Given the description of an element on the screen output the (x, y) to click on. 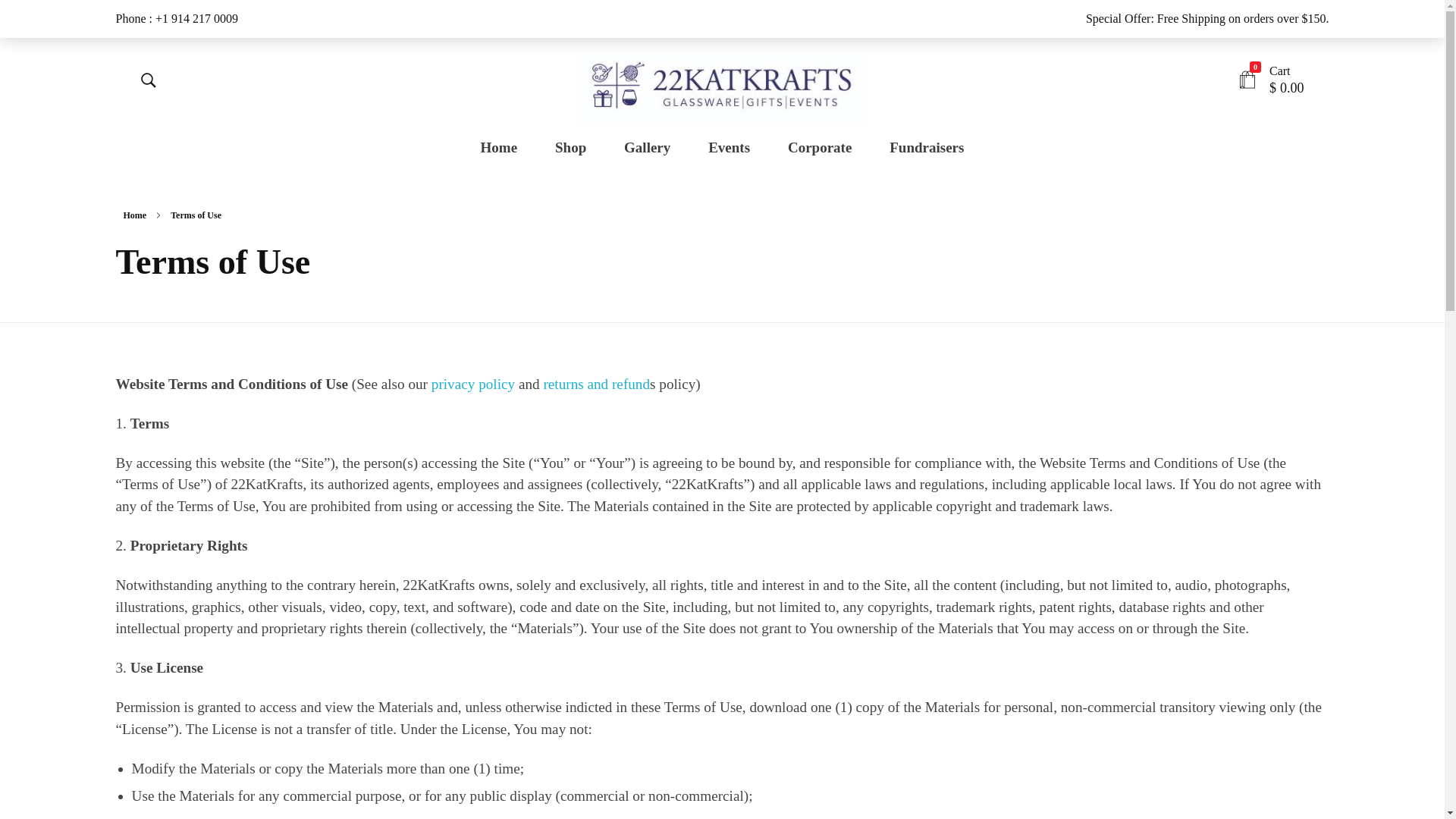
Events Element type: text (728, 147)
0 Element type: text (1247, 80)
Shop Element type: text (570, 147)
Fundraisers Element type: text (916, 147)
privacy policy Element type: text (472, 384)
Home Element type: text (508, 147)
Corporate Element type: text (819, 147)
Home Element type: text (134, 215)
returns and refund Element type: text (595, 384)
Gallery Element type: text (647, 147)
